Given the description of an element on the screen output the (x, y) to click on. 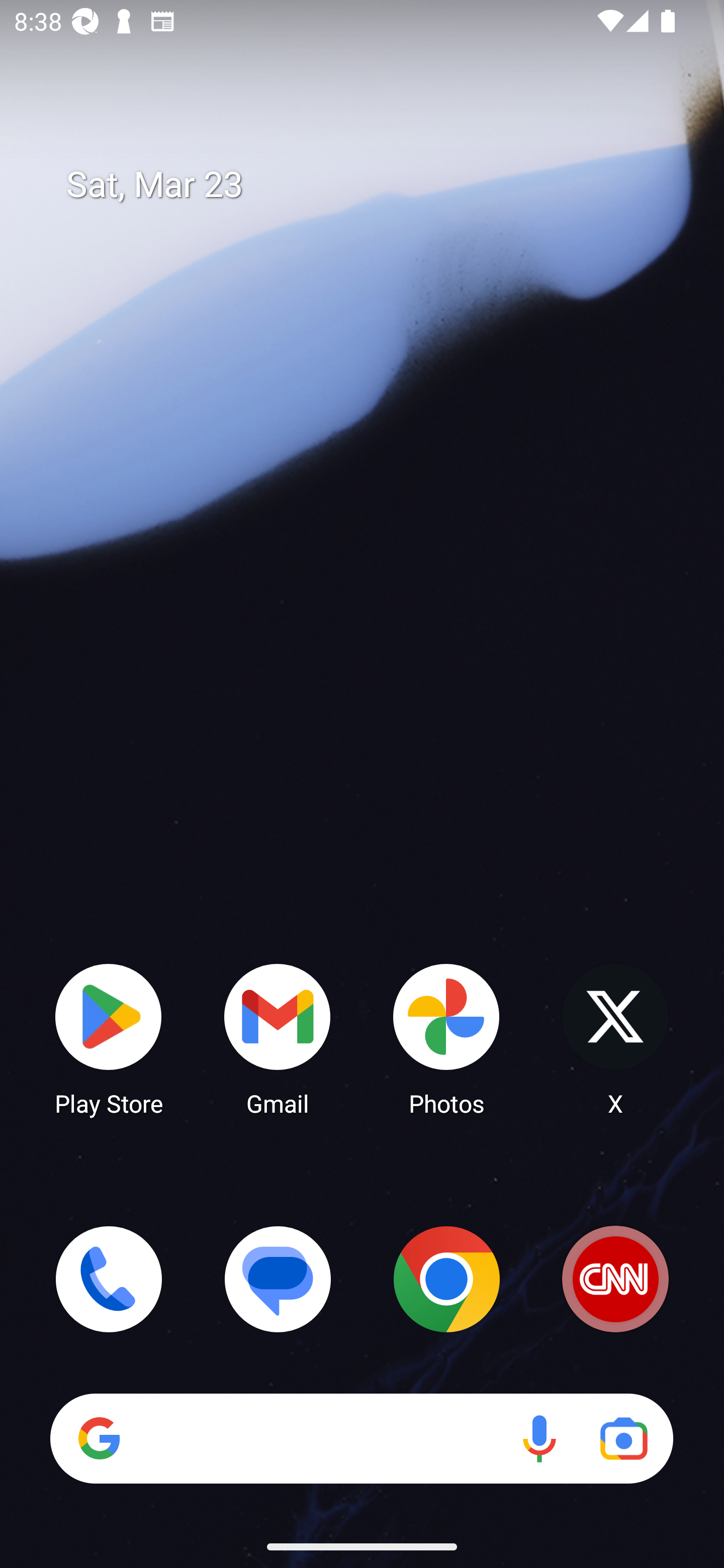
Sat, Mar 23 (375, 184)
Play Store (108, 1038)
Gmail (277, 1038)
Photos (445, 1038)
X (615, 1038)
Phone (108, 1279)
Messages (277, 1279)
Chrome (446, 1279)
CNN Predicted app: CNN (615, 1279)
Voice search (539, 1438)
Google Lens (623, 1438)
